Given the description of an element on the screen output the (x, y) to click on. 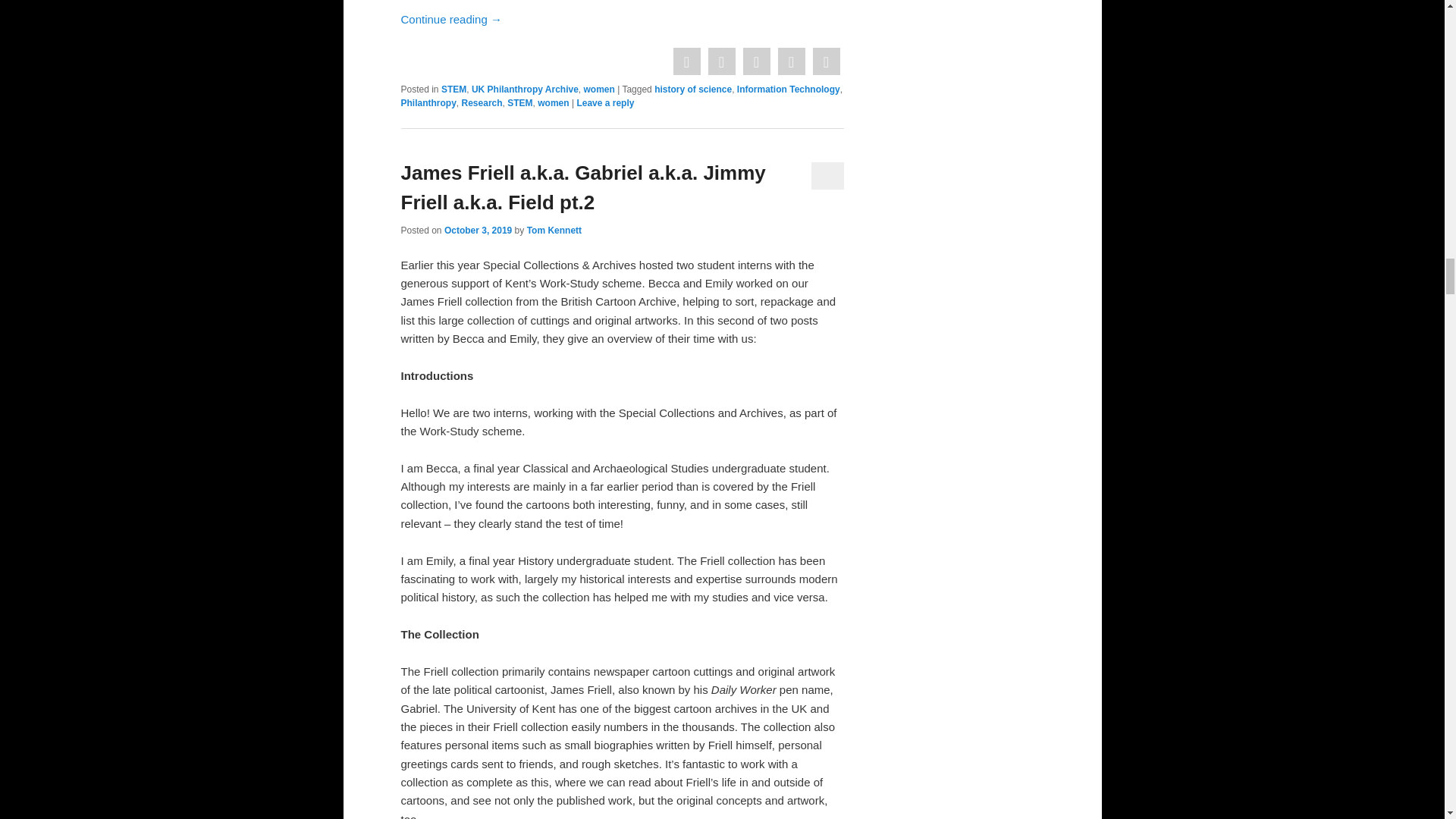
2:44 pm (478, 230)
Share via Google Plus (755, 62)
history of science (692, 89)
STEM (519, 102)
Research (481, 102)
Share via Twitter (720, 62)
STEM (453, 89)
View all posts by Tom Kennett (553, 230)
Share via Email (825, 62)
